Given the description of an element on the screen output the (x, y) to click on. 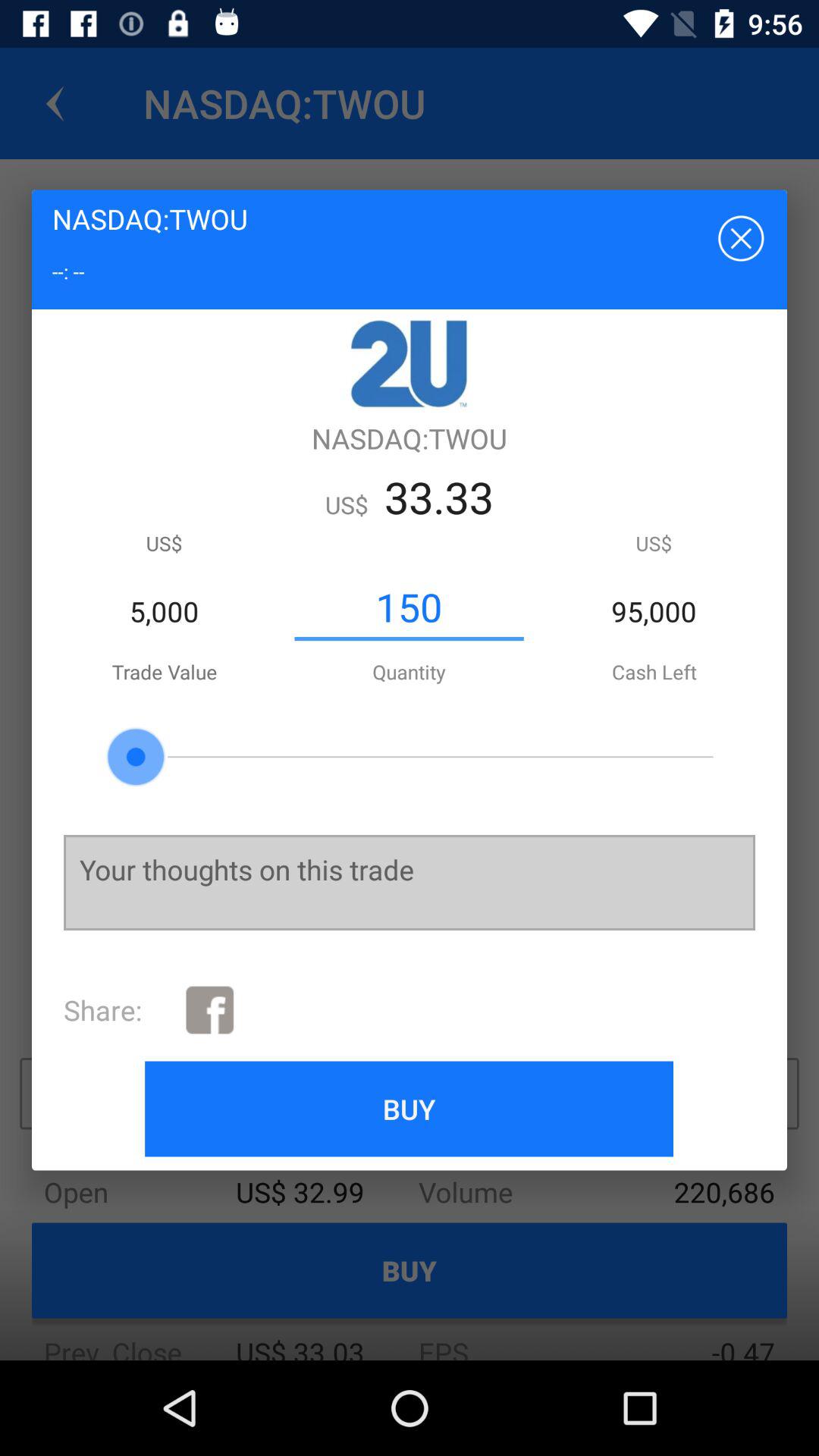
launch the icon to the right of the share: icon (209, 1009)
